Given the description of an element on the screen output the (x, y) to click on. 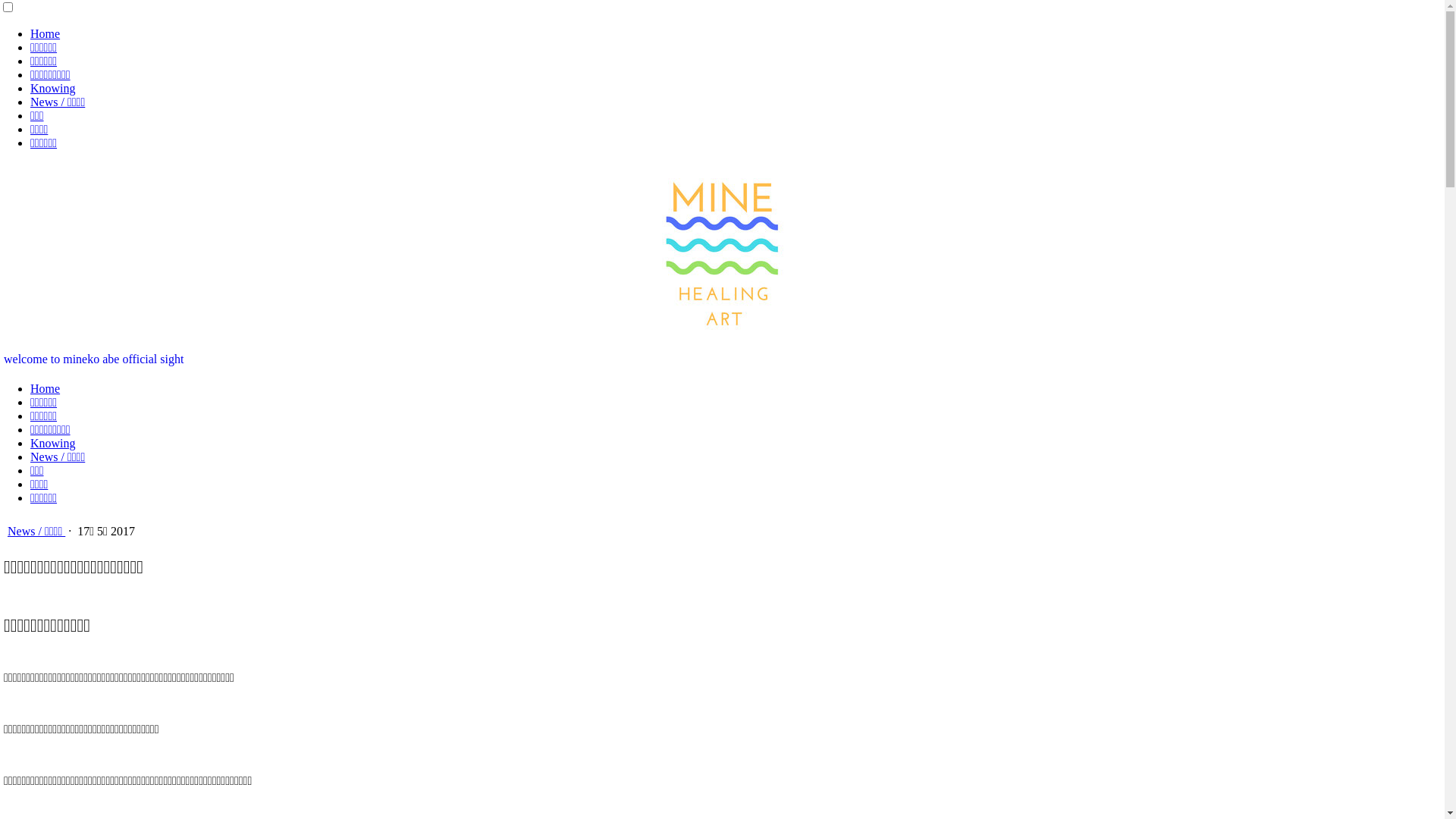
welcome to mineko abe official sight Element type: text (93, 358)
Home Element type: text (44, 388)
Knowing Element type: text (52, 442)
Knowing Element type: text (52, 87)
Home Element type: text (44, 33)
